Given the description of an element on the screen output the (x, y) to click on. 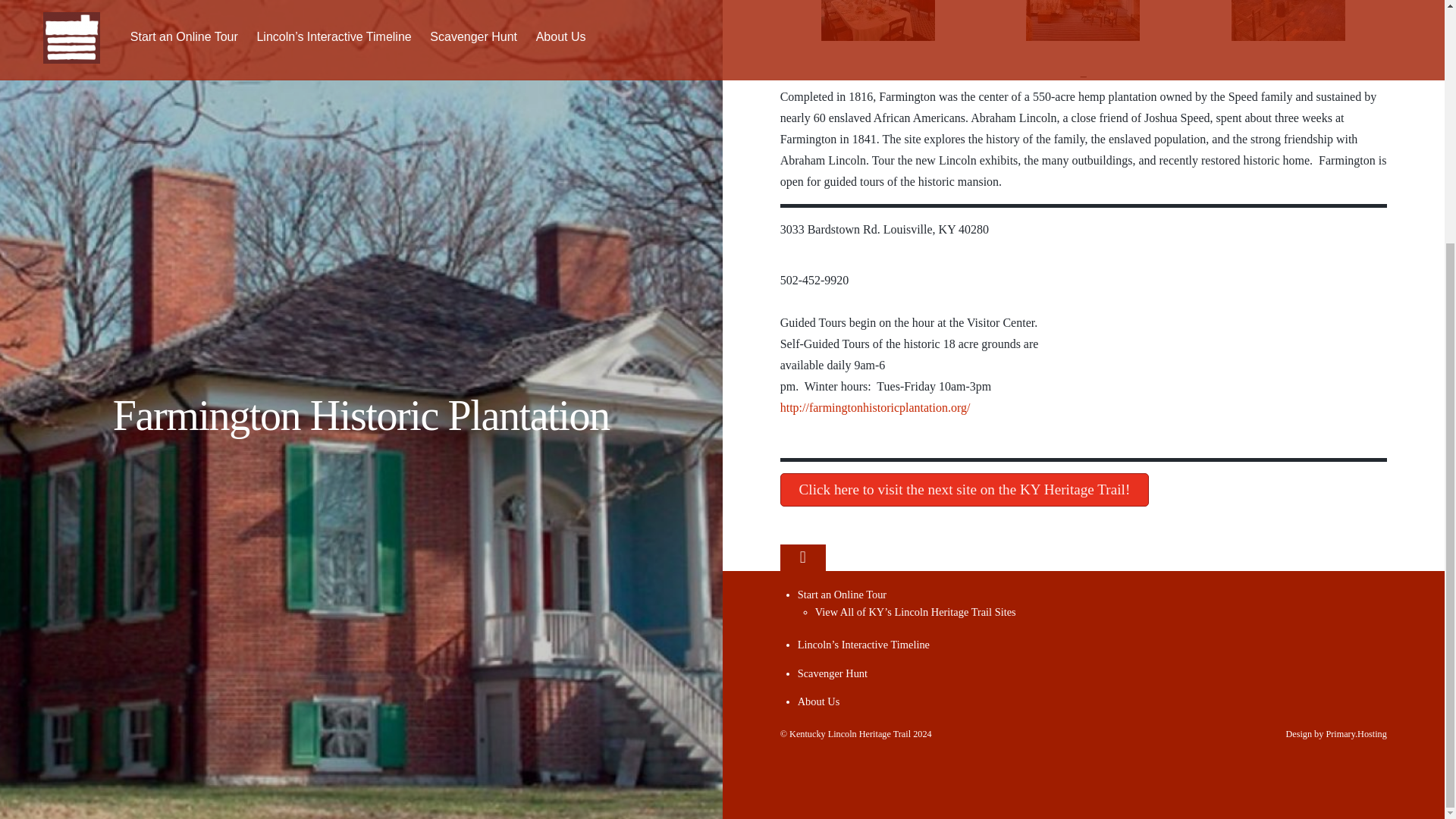
Start an Online Tour (841, 594)
Click here to visit the next site on the KY Heritage Trail! (964, 489)
Scavenger Hunt (832, 673)
About Us (818, 701)
Kentucky Lincoln Heritage Trail (850, 733)
